Given the description of an element on the screen output the (x, y) to click on. 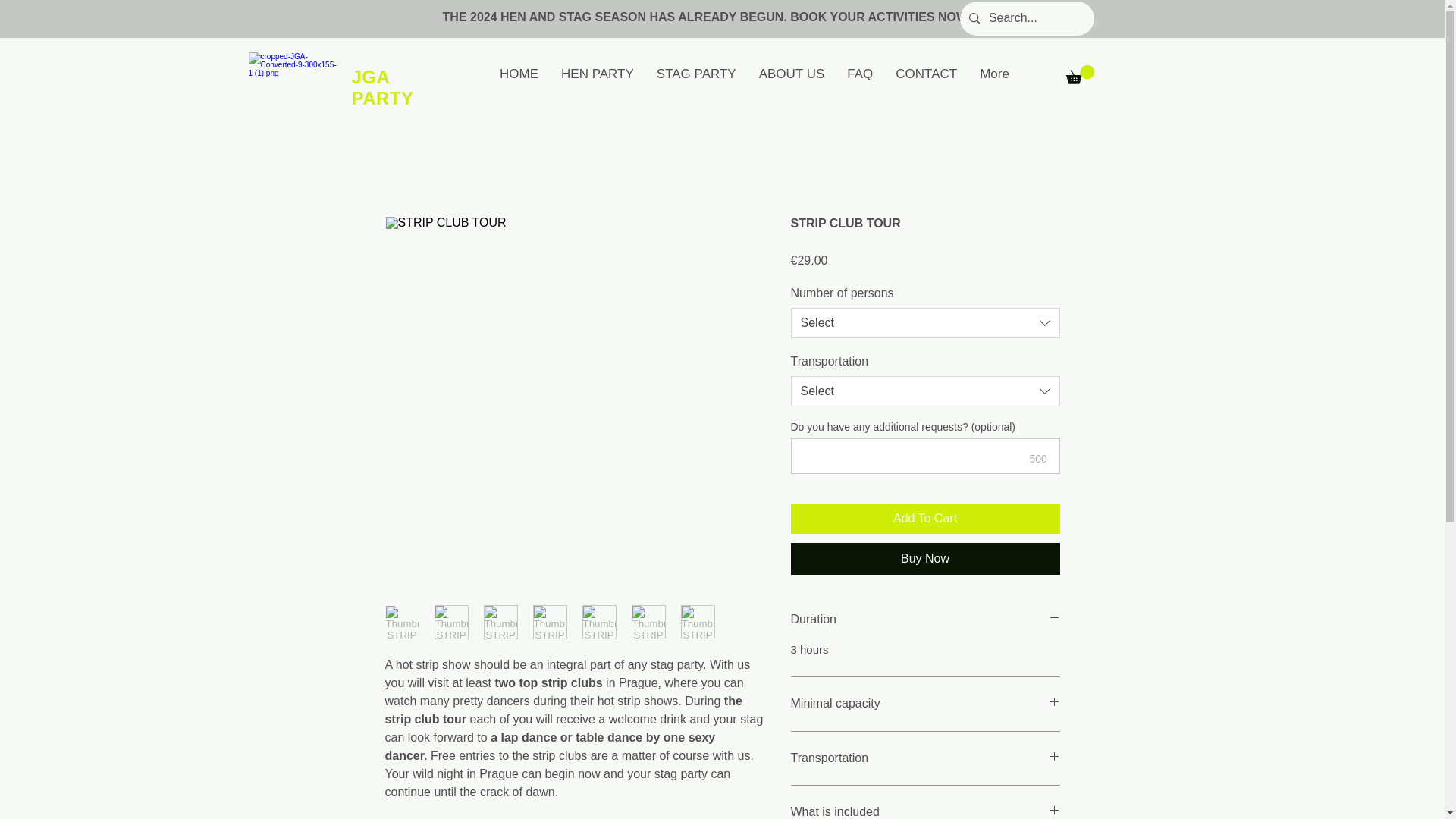
HOME (518, 75)
HEN PARTY (597, 75)
CONTACT (925, 75)
STAG PARTY (696, 75)
Select (924, 322)
FAQ (859, 75)
ABOUT US (791, 75)
